Given the description of an element on the screen output the (x, y) to click on. 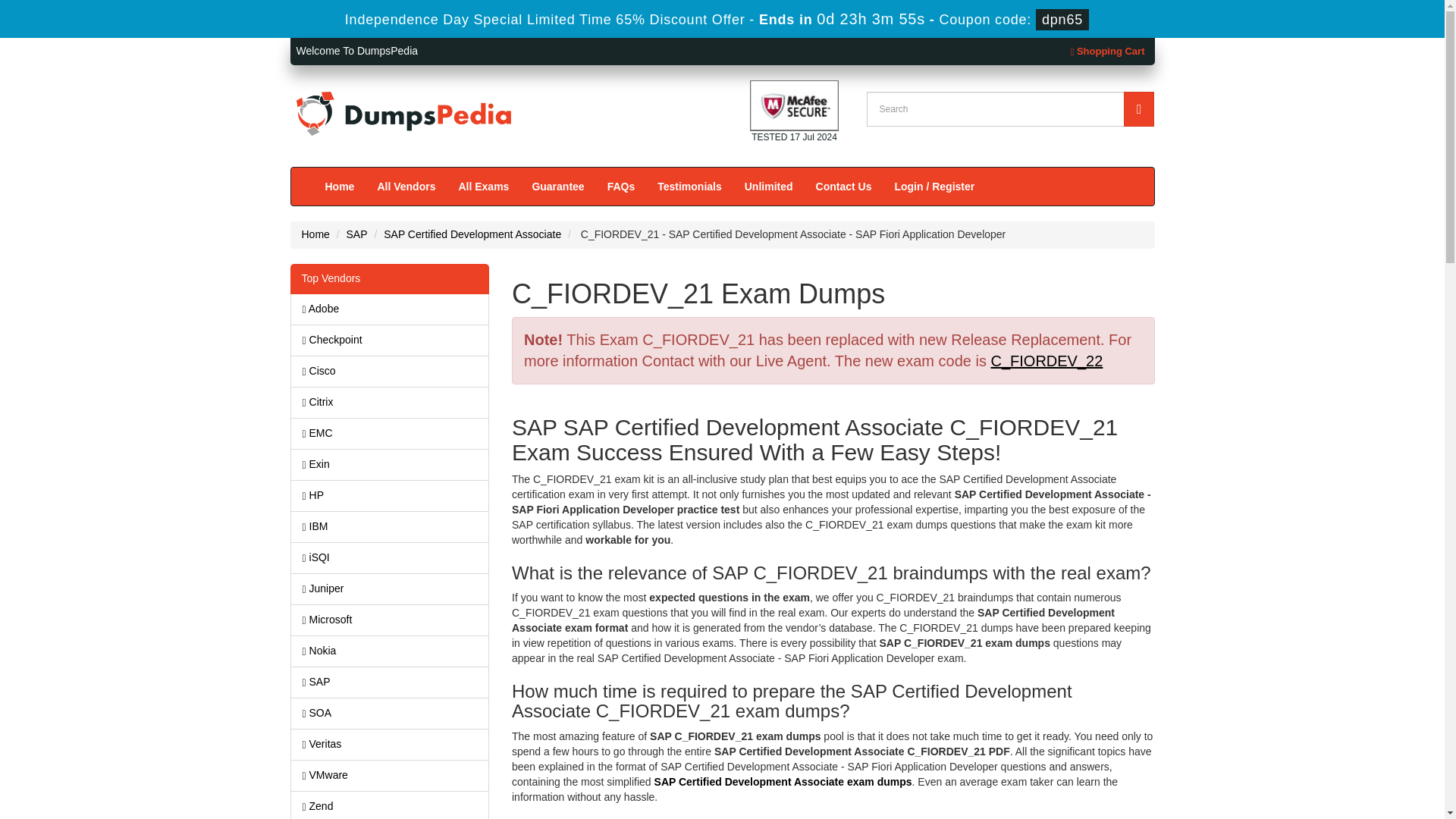
Adobe (390, 309)
All Exams (482, 186)
Top Vendors (389, 278)
All Vendors (405, 186)
Home (315, 234)
Checkpoint (390, 340)
Veritas (390, 744)
SOA (390, 713)
Guarantee (557, 186)
VMware (390, 775)
Nokia (390, 651)
Testimonials (689, 186)
SAP Certified Development Associate (472, 234)
Microsoft (390, 620)
SAP (390, 682)
